Given the description of an element on the screen output the (x, y) to click on. 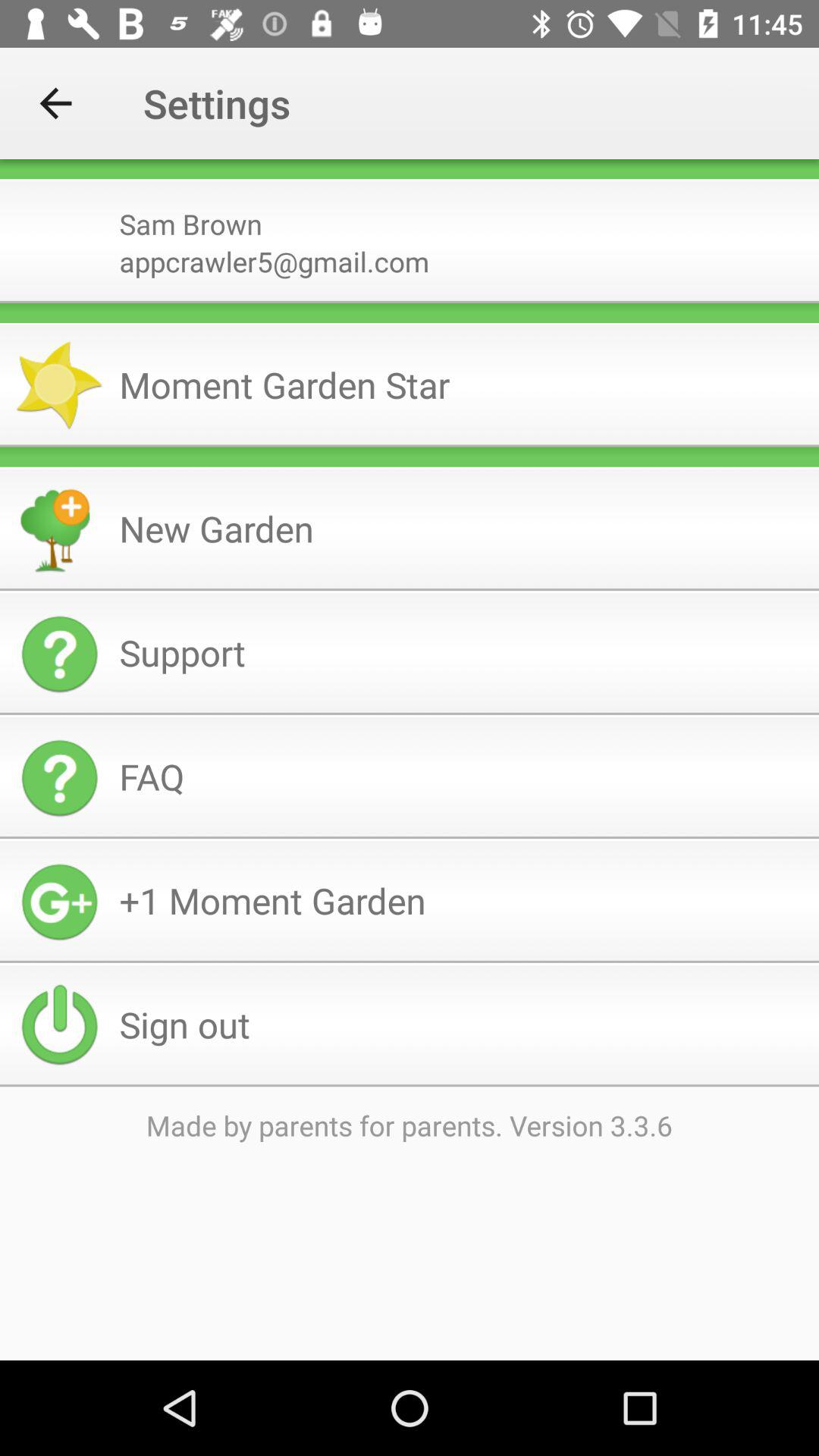
turn off sign out icon (463, 1024)
